Given the description of an element on the screen output the (x, y) to click on. 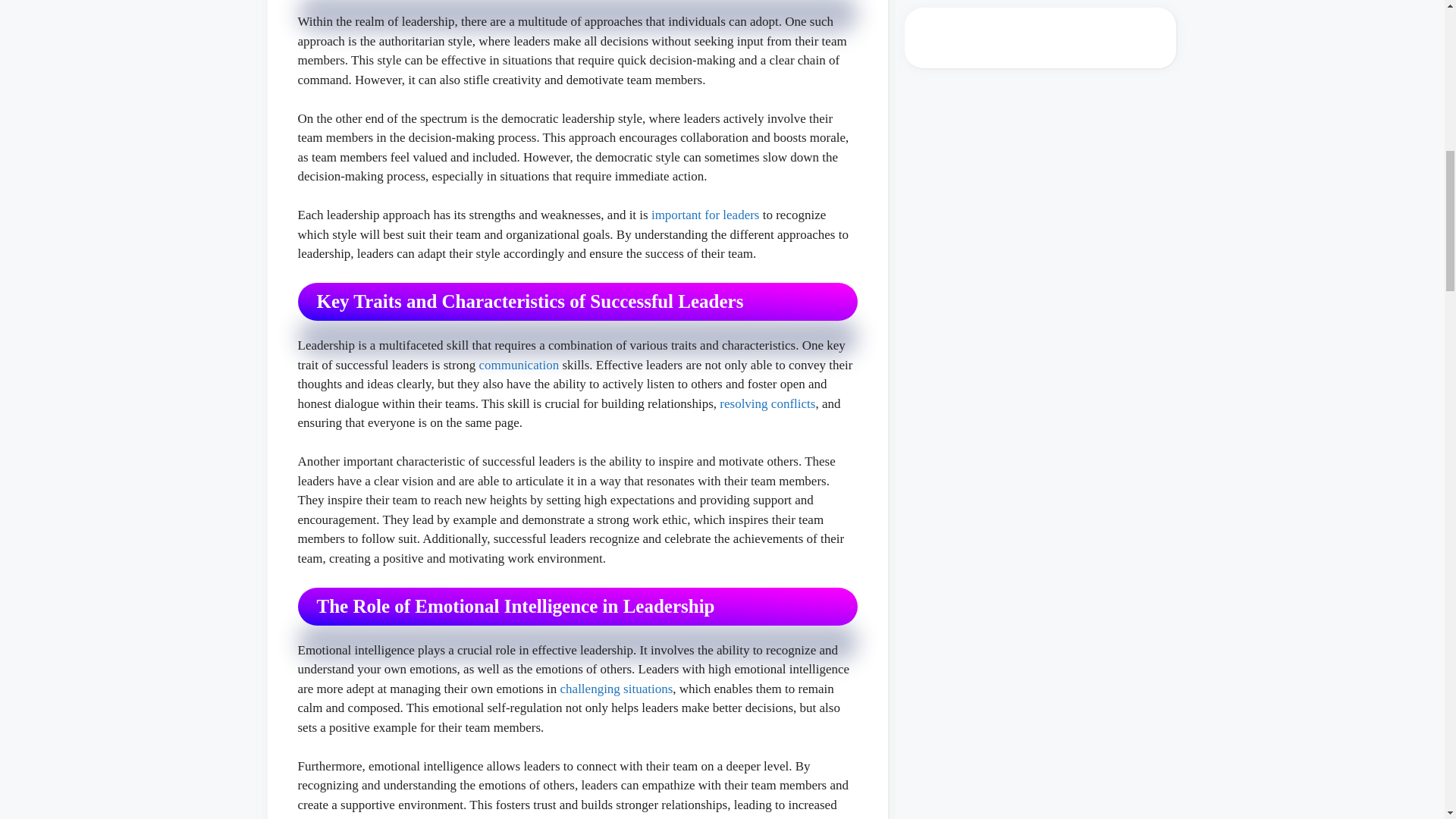
resolving conflicts (767, 403)
Handling Challenging Customer Situations (616, 688)
Boosting Information Dissemination (519, 364)
Opinion Leaders: Who Are They, Why Are They Important (705, 214)
communication (519, 364)
important for leaders (705, 214)
Resolving Workplace Conflict (767, 403)
challenging situations (616, 688)
